Given the description of an element on the screen output the (x, y) to click on. 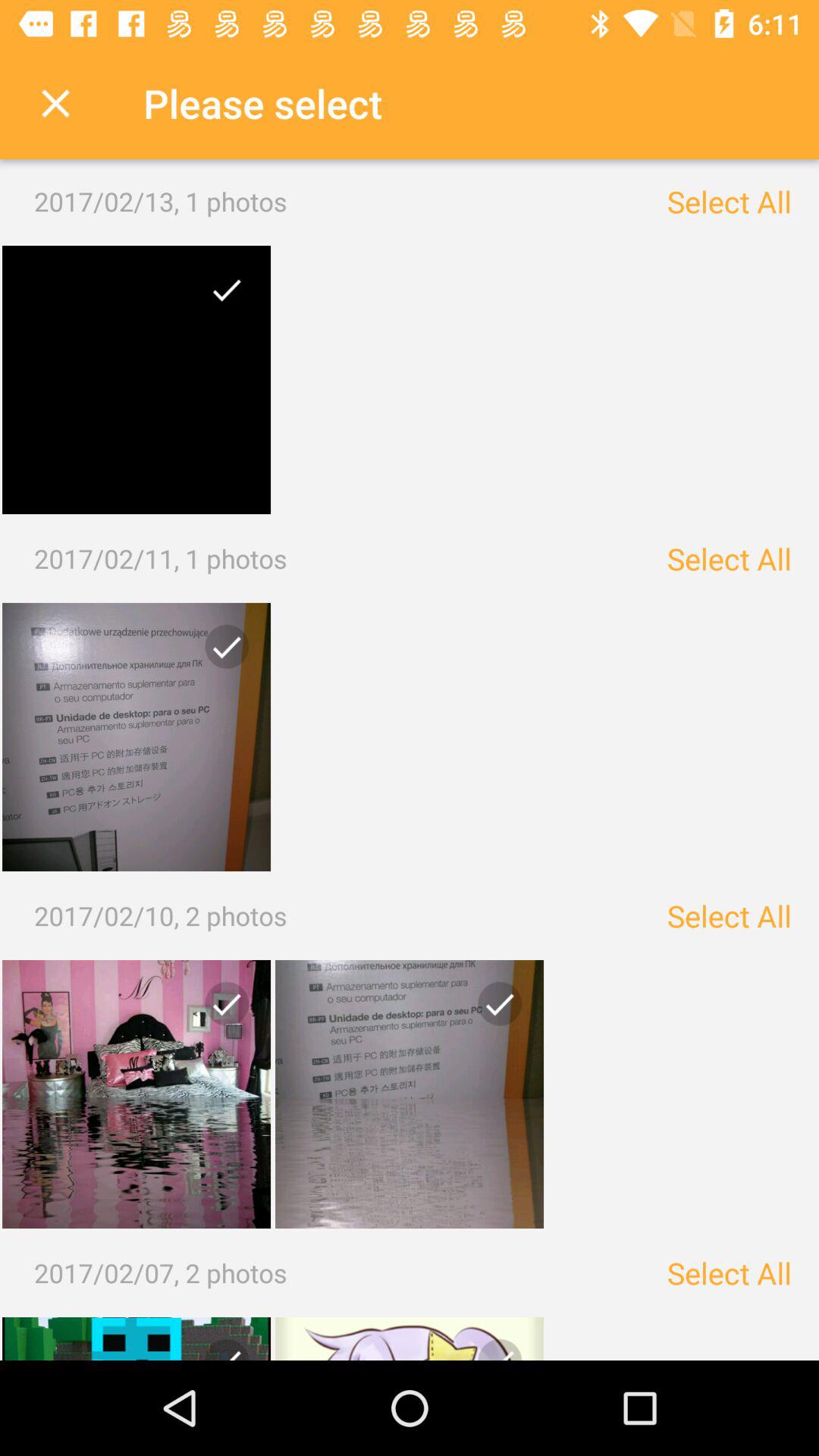
select/deselect image (136, 736)
